Given the description of an element on the screen output the (x, y) to click on. 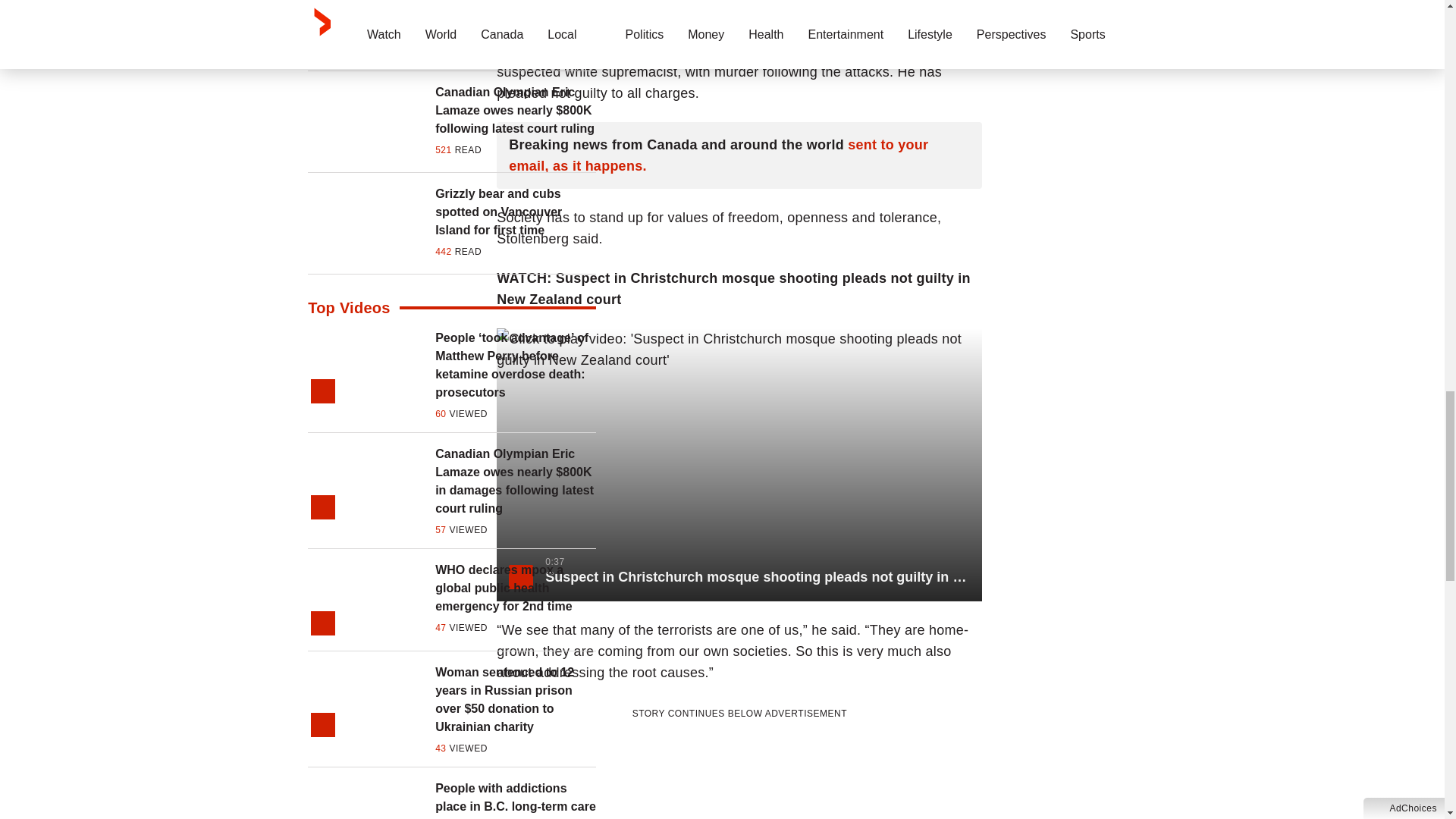
People with addictions place in B.C. long-term care (515, 797)
